Given the description of an element on the screen output the (x, y) to click on. 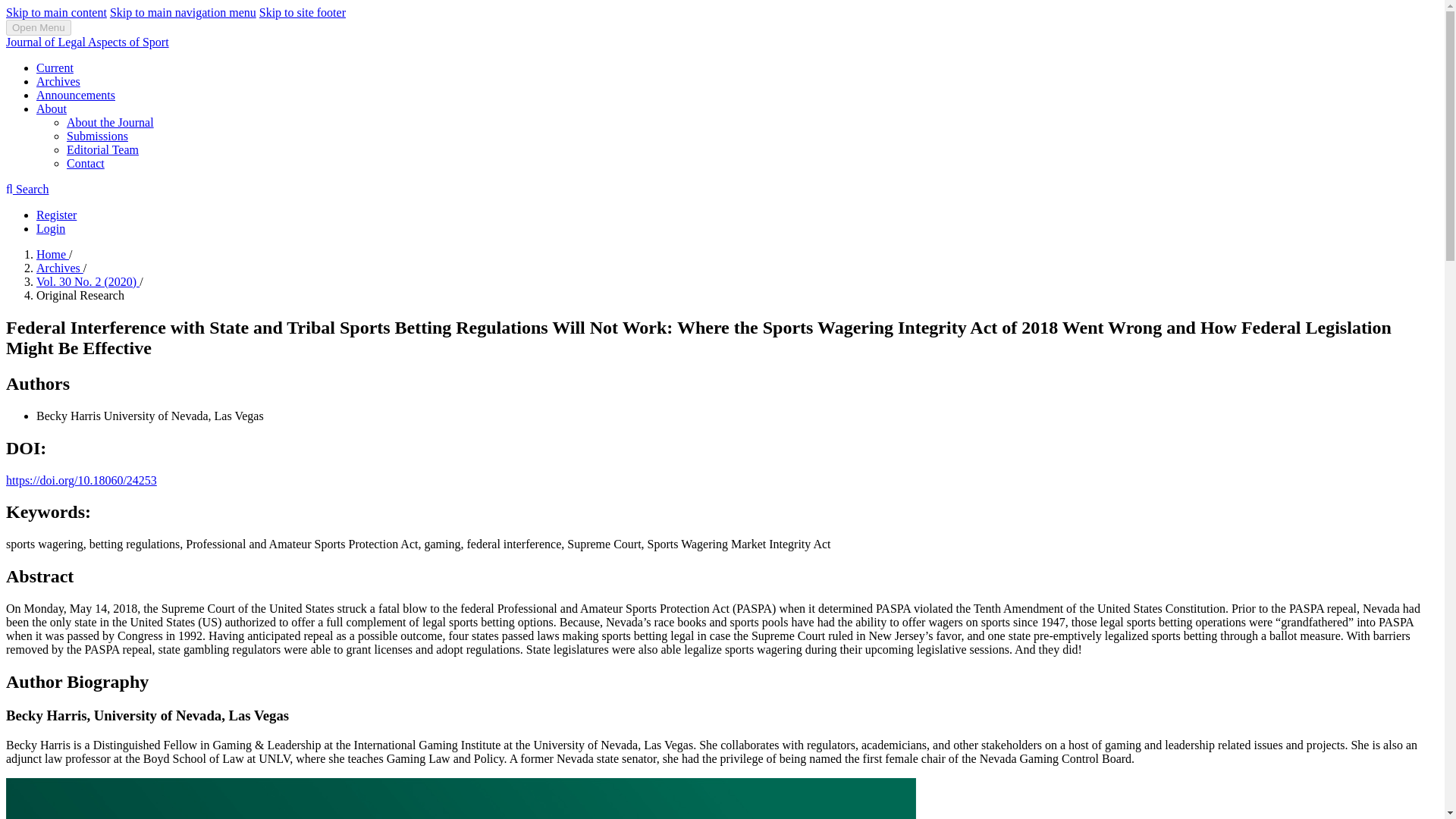
Home (52, 254)
Register (56, 214)
Contact (85, 163)
About the Journal (110, 122)
About (51, 108)
Current (55, 67)
Editorial Team (102, 149)
Skip to main navigation menu (183, 11)
Skip to main content (55, 11)
Login (50, 228)
Archives (59, 267)
Skip to site footer (302, 11)
Submissions (97, 135)
Open Menu (38, 27)
Archives (58, 81)
